Given the description of an element on the screen output the (x, y) to click on. 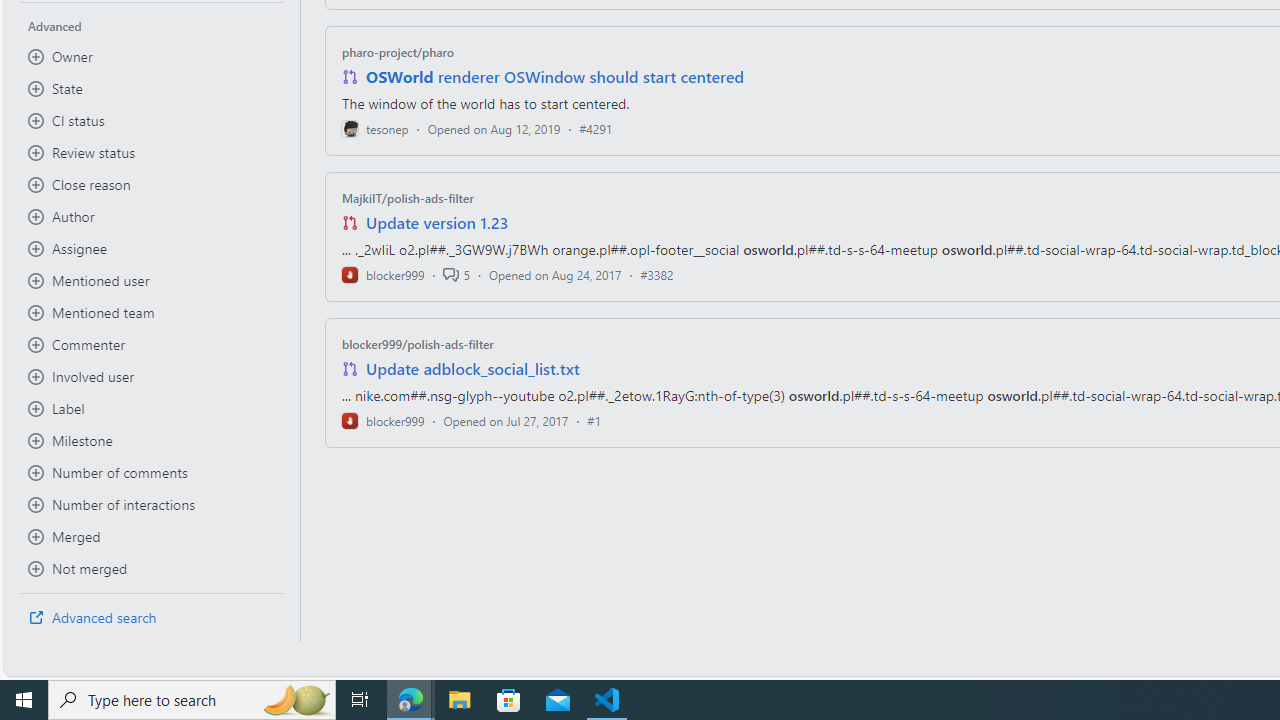
#3382 (657, 273)
tesonep (375, 128)
#4291 (595, 128)
OSWorld renderer OSWindow should start centered (554, 76)
#3382 (657, 273)
